Given the description of an element on the screen output the (x, y) to click on. 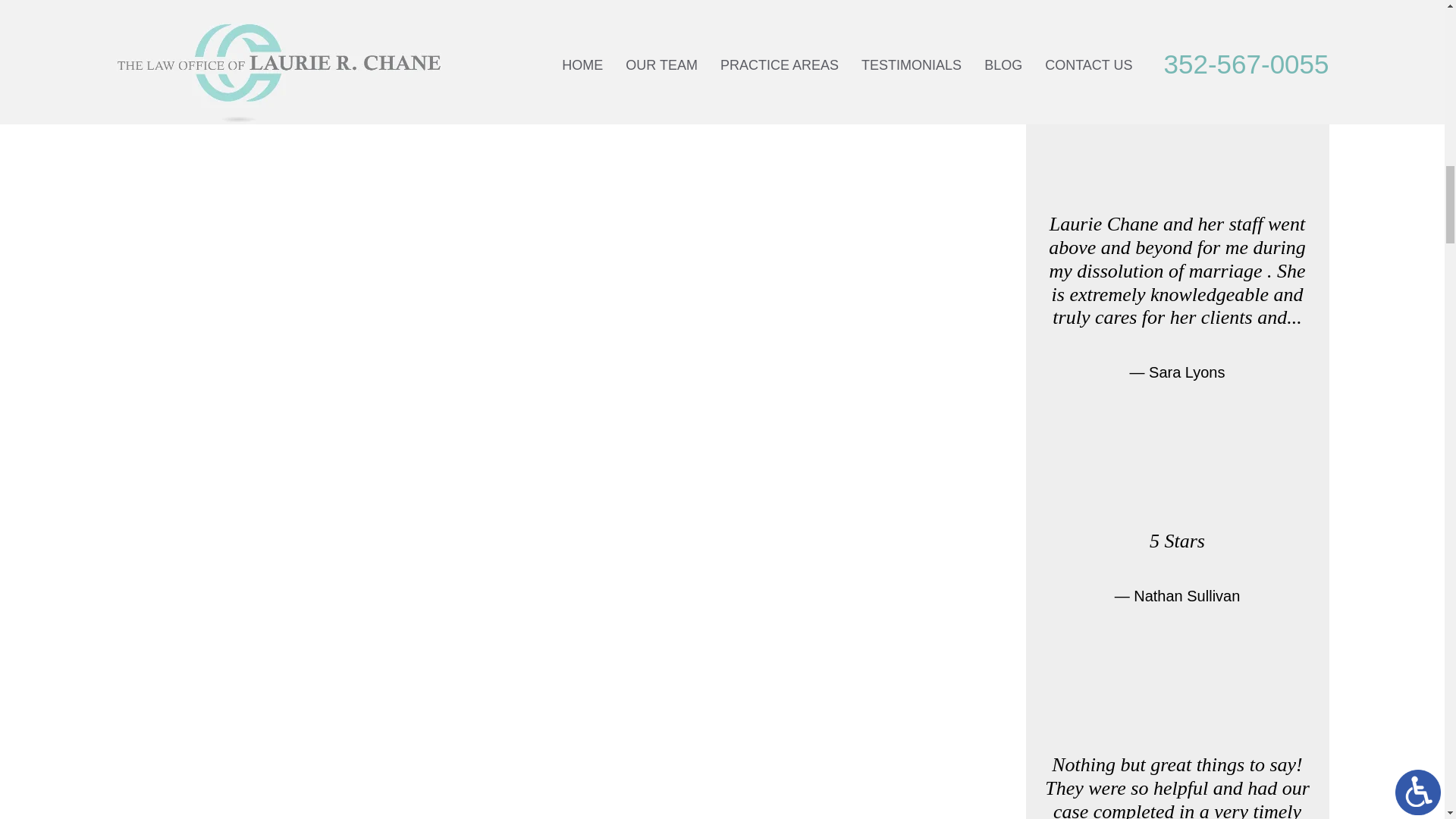
Facebook (257, 10)
Twitter (268, 10)
LinkedIn (278, 10)
